Given the description of an element on the screen output the (x, y) to click on. 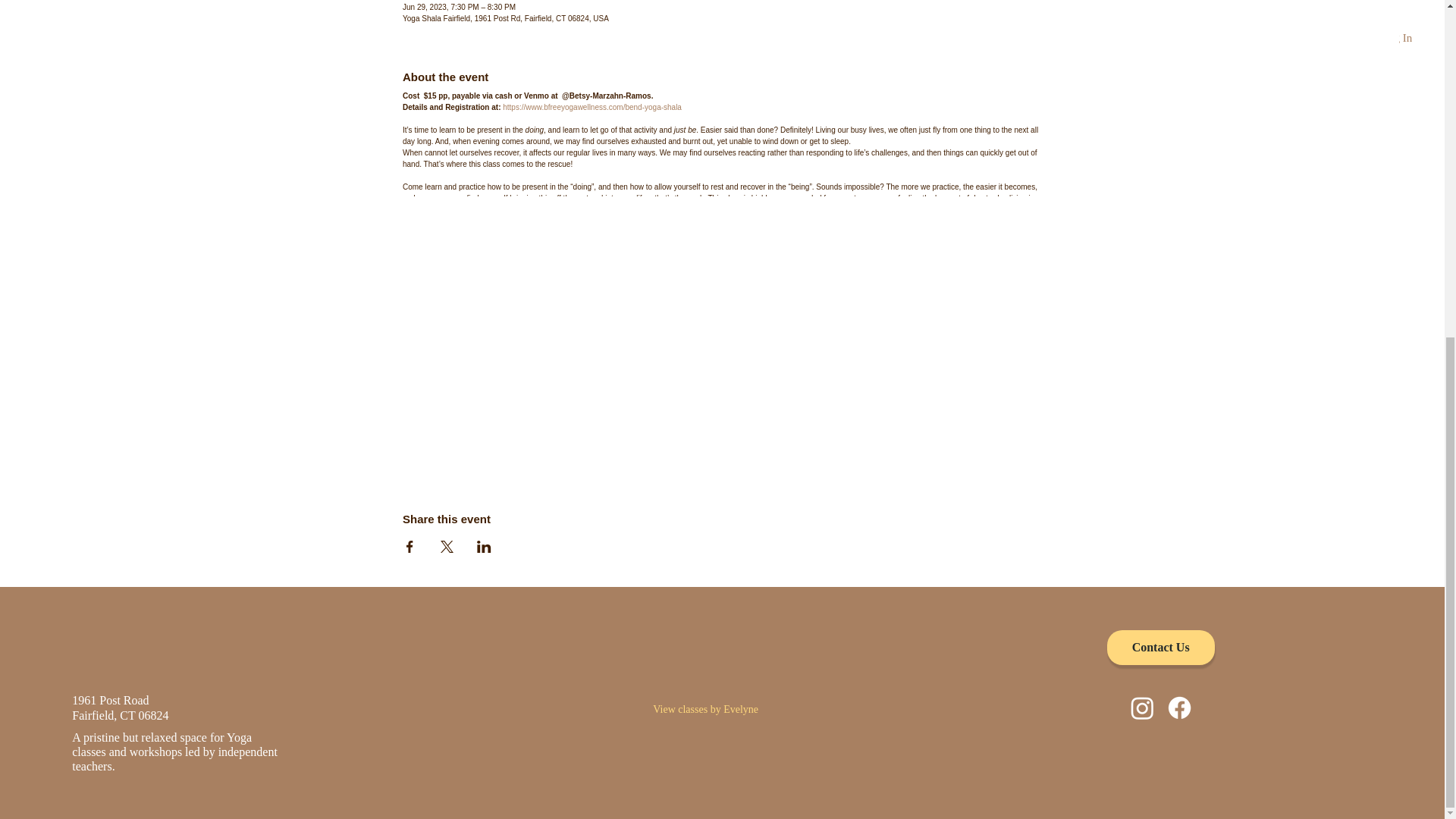
View classes by Evelyne (721, 708)
Contact Us (119, 707)
